Given the description of an element on the screen output the (x, y) to click on. 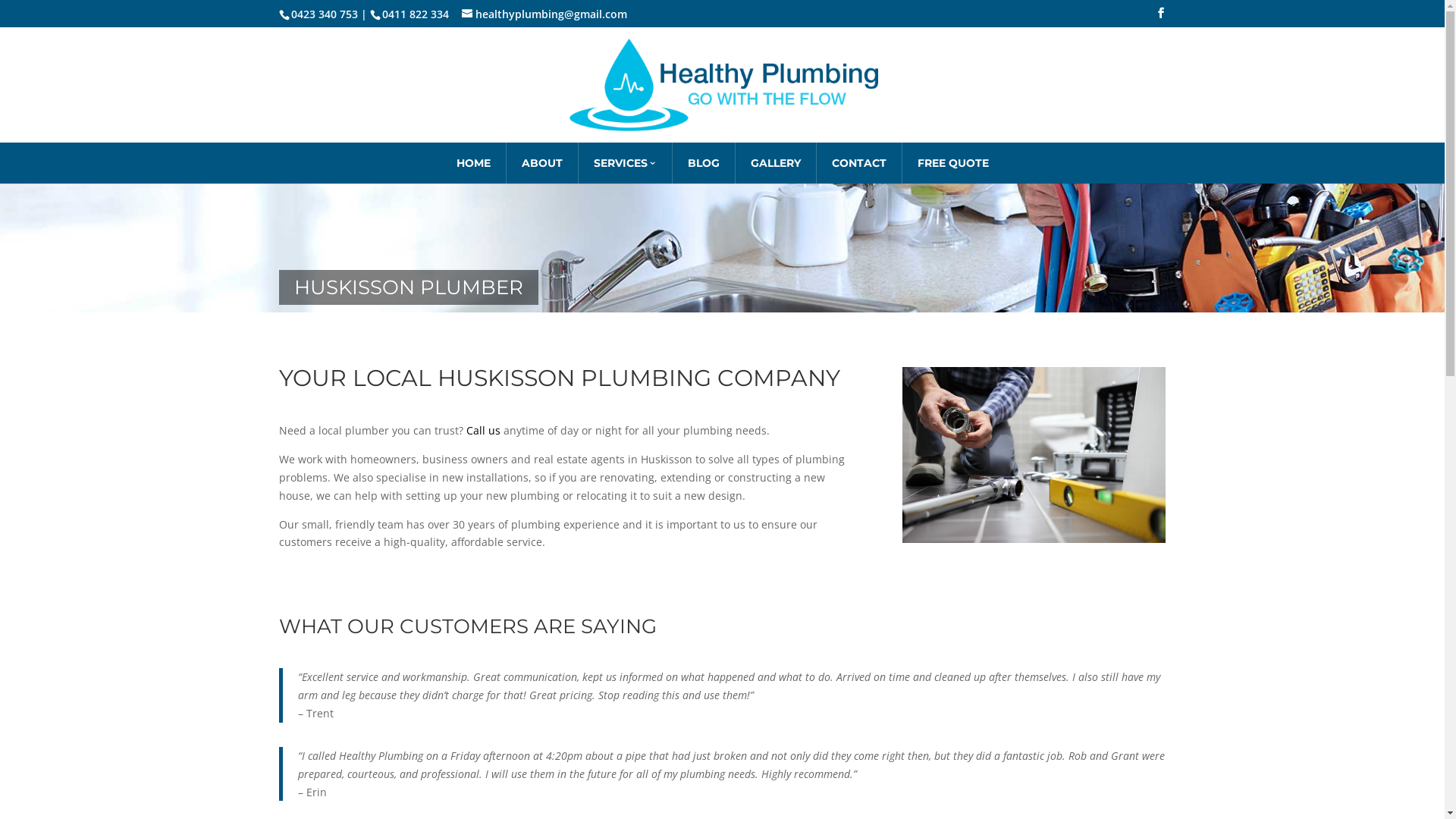
0411 822 334 Element type: text (414, 13)
FREE QUOTE Element type: text (953, 162)
Call us Element type: text (482, 430)
ABOUT Element type: text (541, 162)
SERVICES Element type: text (624, 162)
GALLERY Element type: text (775, 162)
healthyplumbing@gmail.com Element type: text (543, 13)
CONTACT Element type: text (857, 162)
0423 340 753 Element type: text (318, 13)
HOME Element type: text (473, 162)
BLOG Element type: text (702, 162)
